Given the description of an element on the screen output the (x, y) to click on. 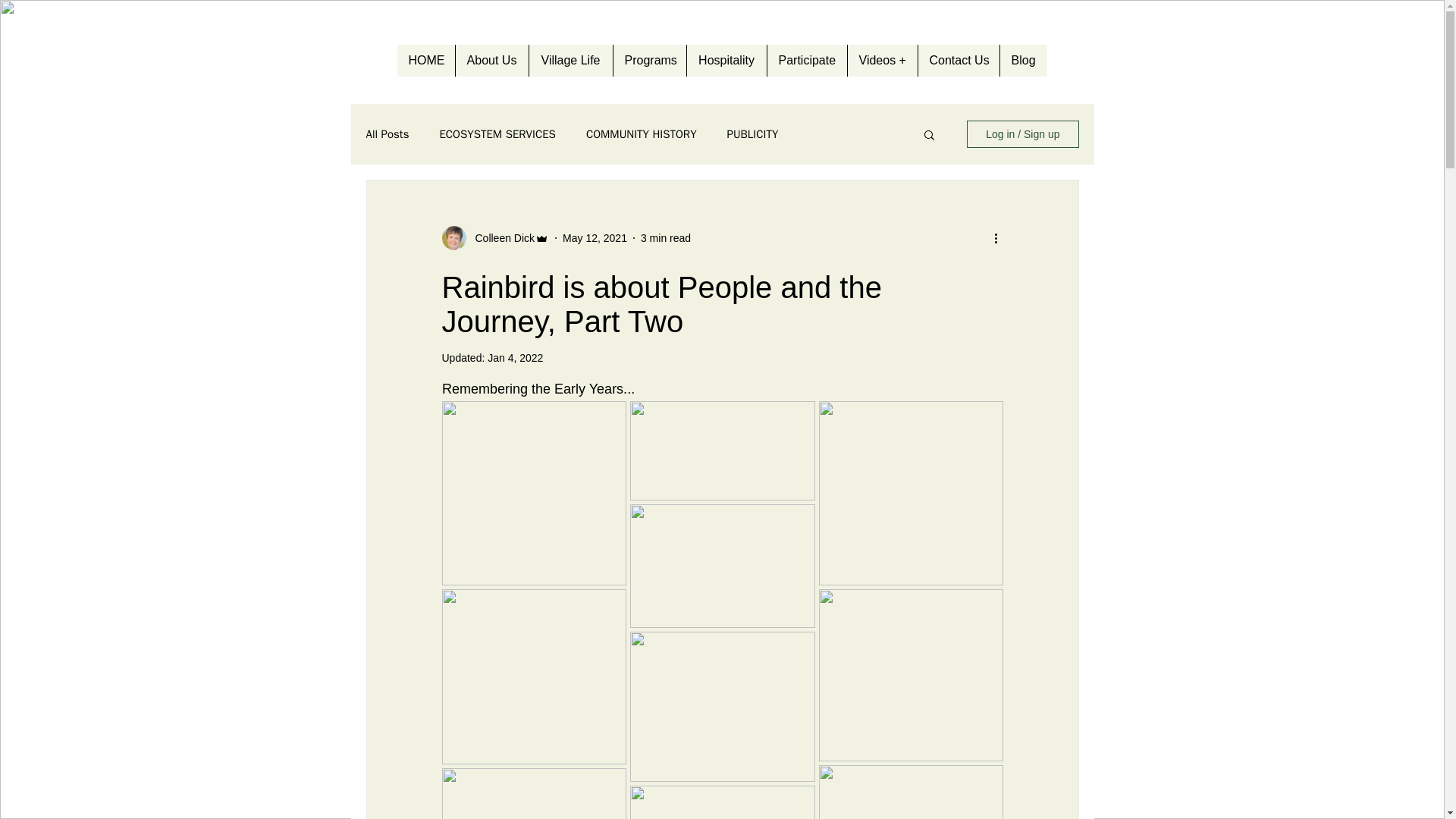
Programs (648, 60)
3 min read (665, 237)
Village Life (569, 60)
About Us (491, 60)
Blog (1022, 60)
May 12, 2021 (594, 237)
Jan 4, 2022 (515, 357)
PUBLICITY (752, 134)
COMMUNITY HISTORY (641, 134)
Colleen Dick (499, 238)
